Given the description of an element on the screen output the (x, y) to click on. 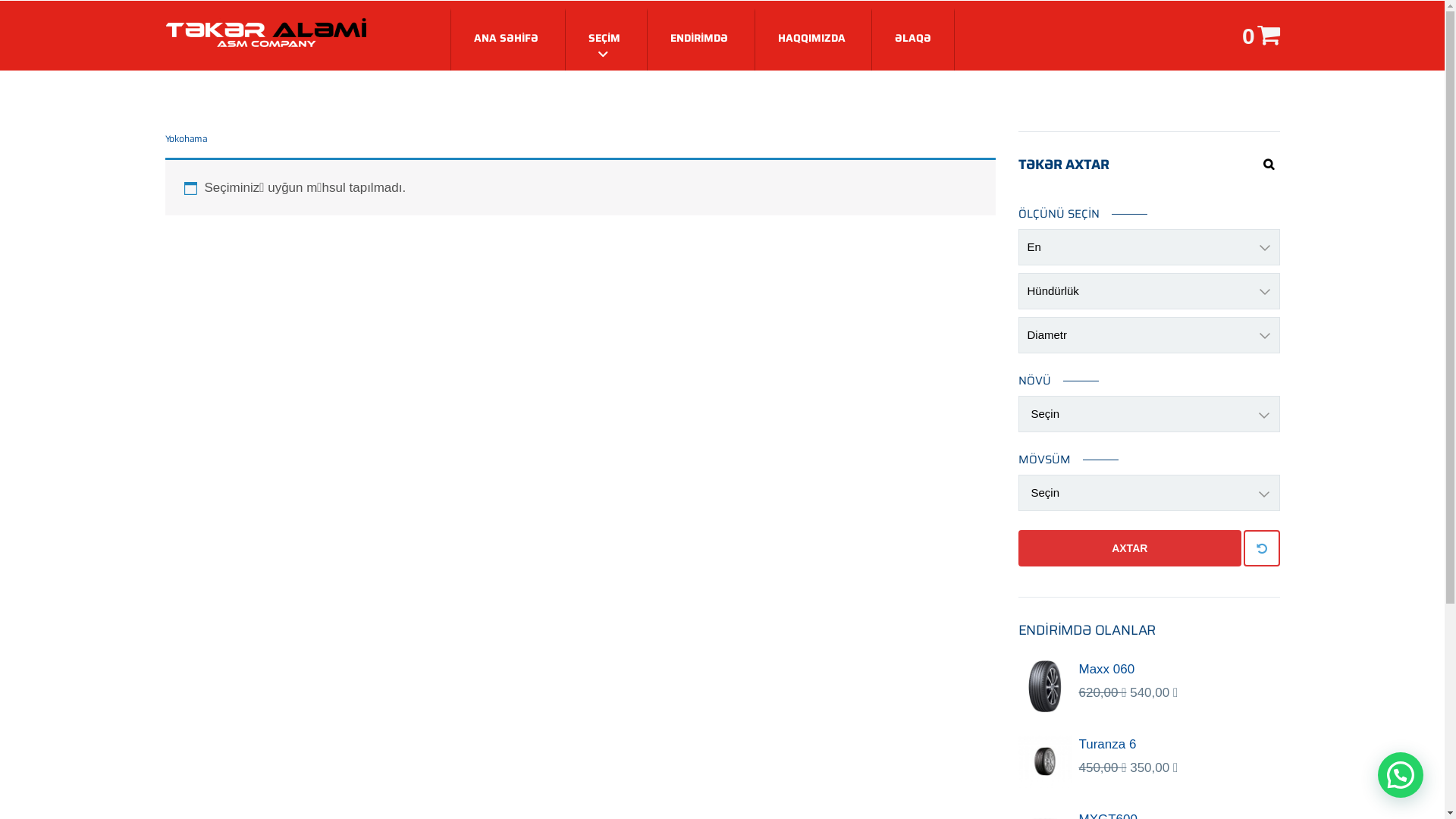
AXTAR Element type: text (1129, 548)
Maxx 060 Element type: text (1178, 669)
Turanza 6 Element type: text (1178, 744)
HAQQIMIZDA Element type: text (811, 39)
